Given the description of an element on the screen output the (x, y) to click on. 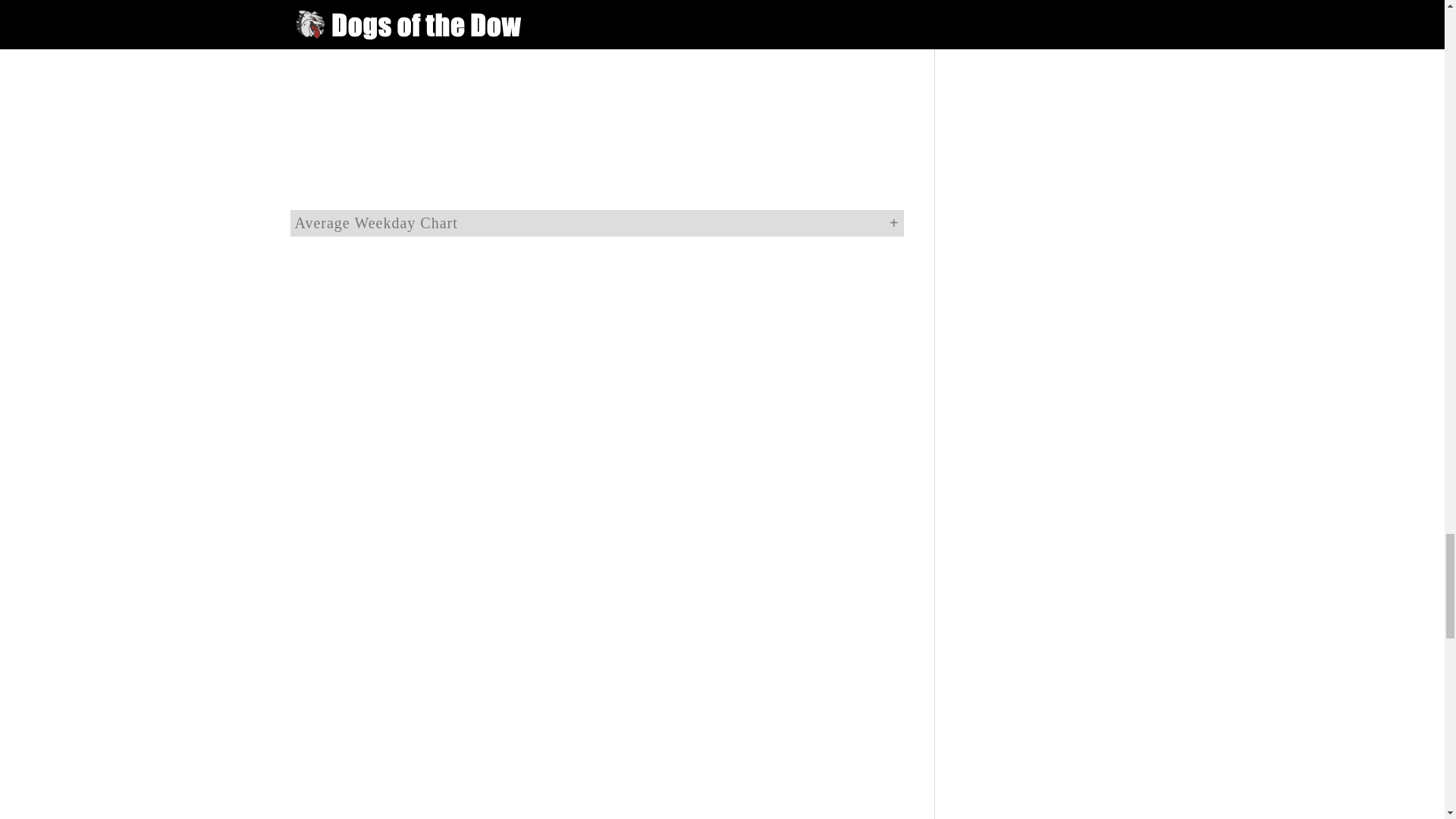
Average Weekday Chart (595, 222)
